Given the description of an element on the screen output the (x, y) to click on. 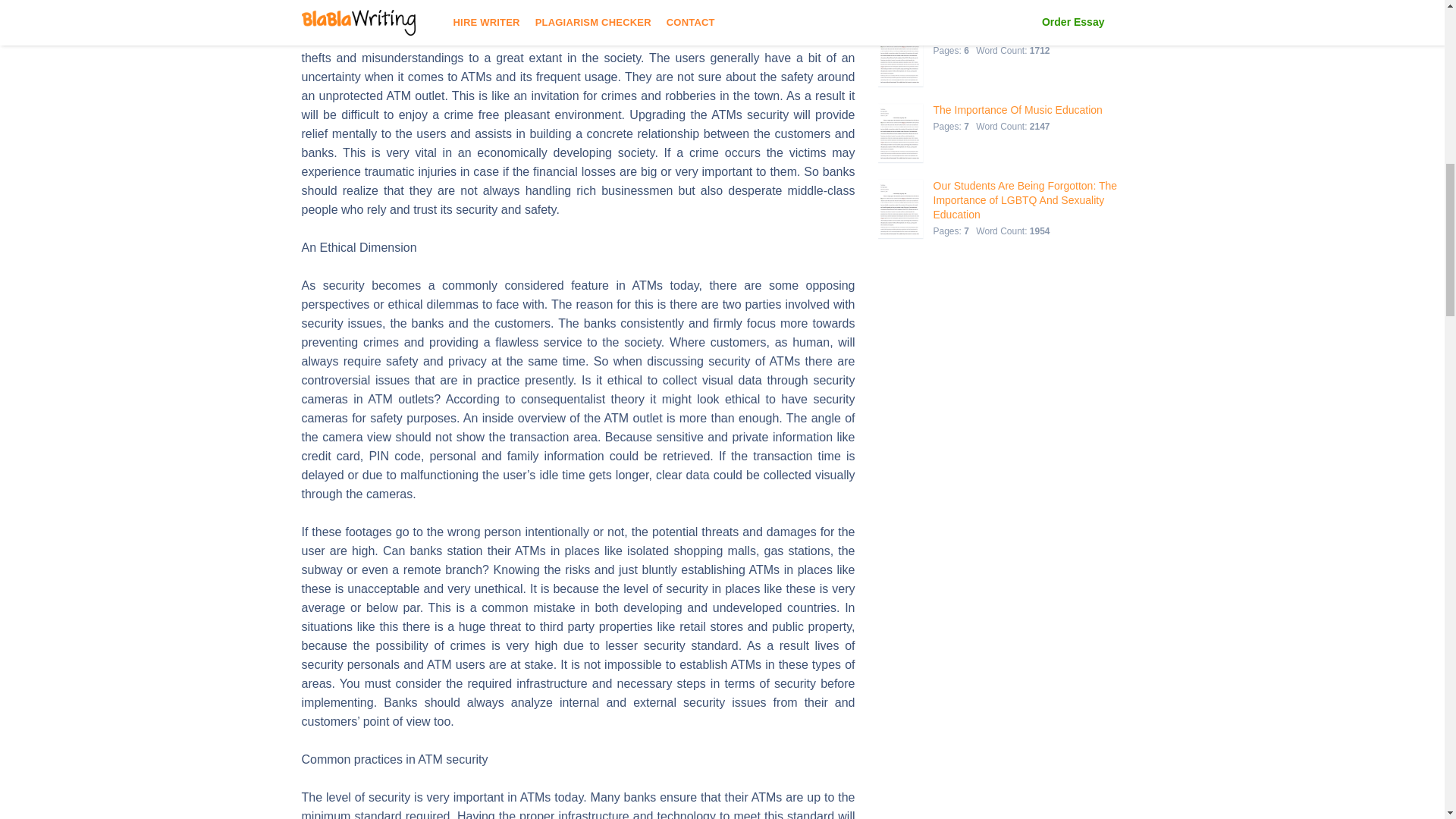
The Importance Of Music Education (1017, 110)
The Importance of Adult Education (1014, 34)
